Given the description of an element on the screen output the (x, y) to click on. 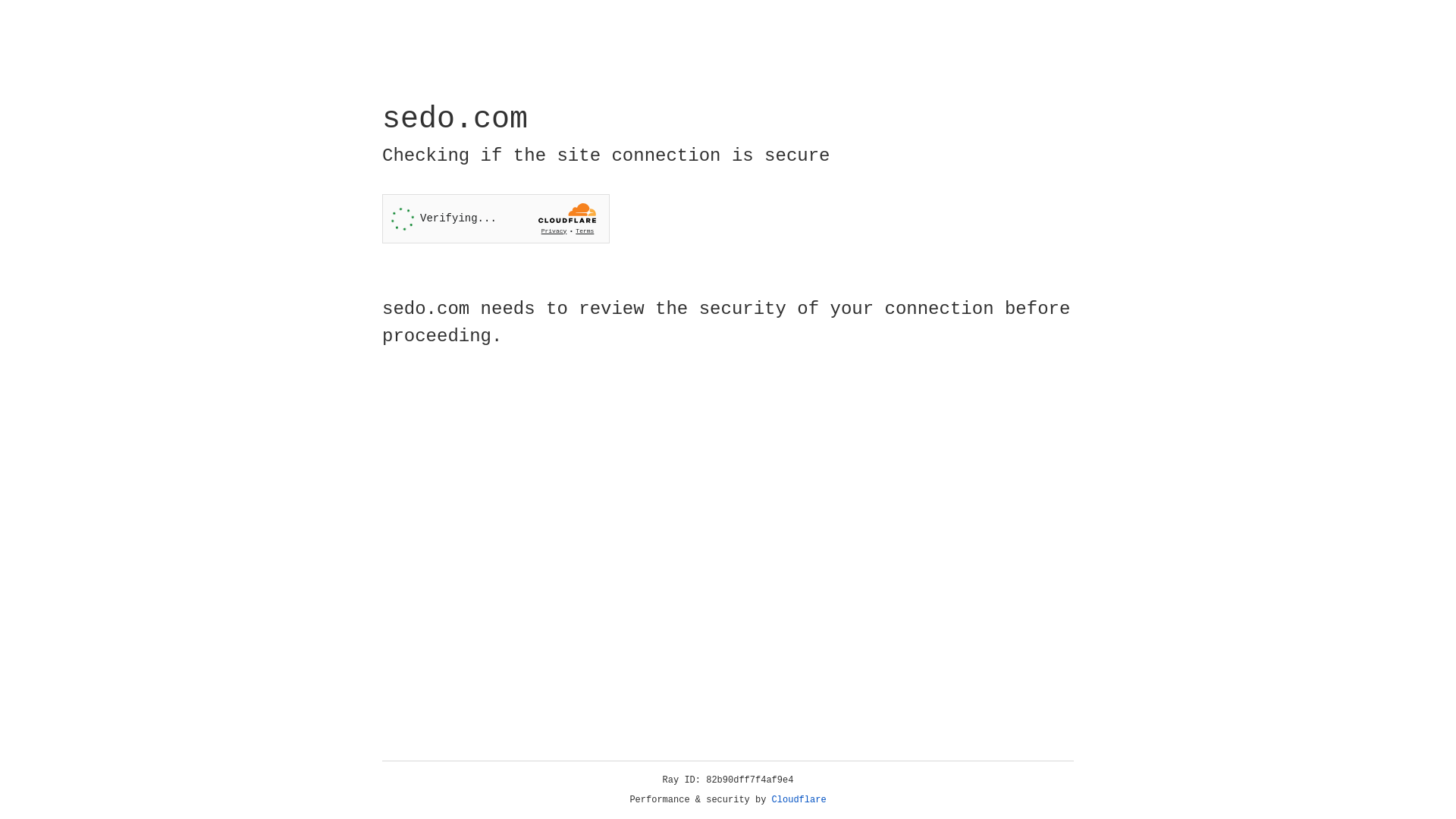
Widget containing a Cloudflare security challenge Element type: hover (495, 218)
Cloudflare Element type: text (798, 799)
